Given the description of an element on the screen output the (x, y) to click on. 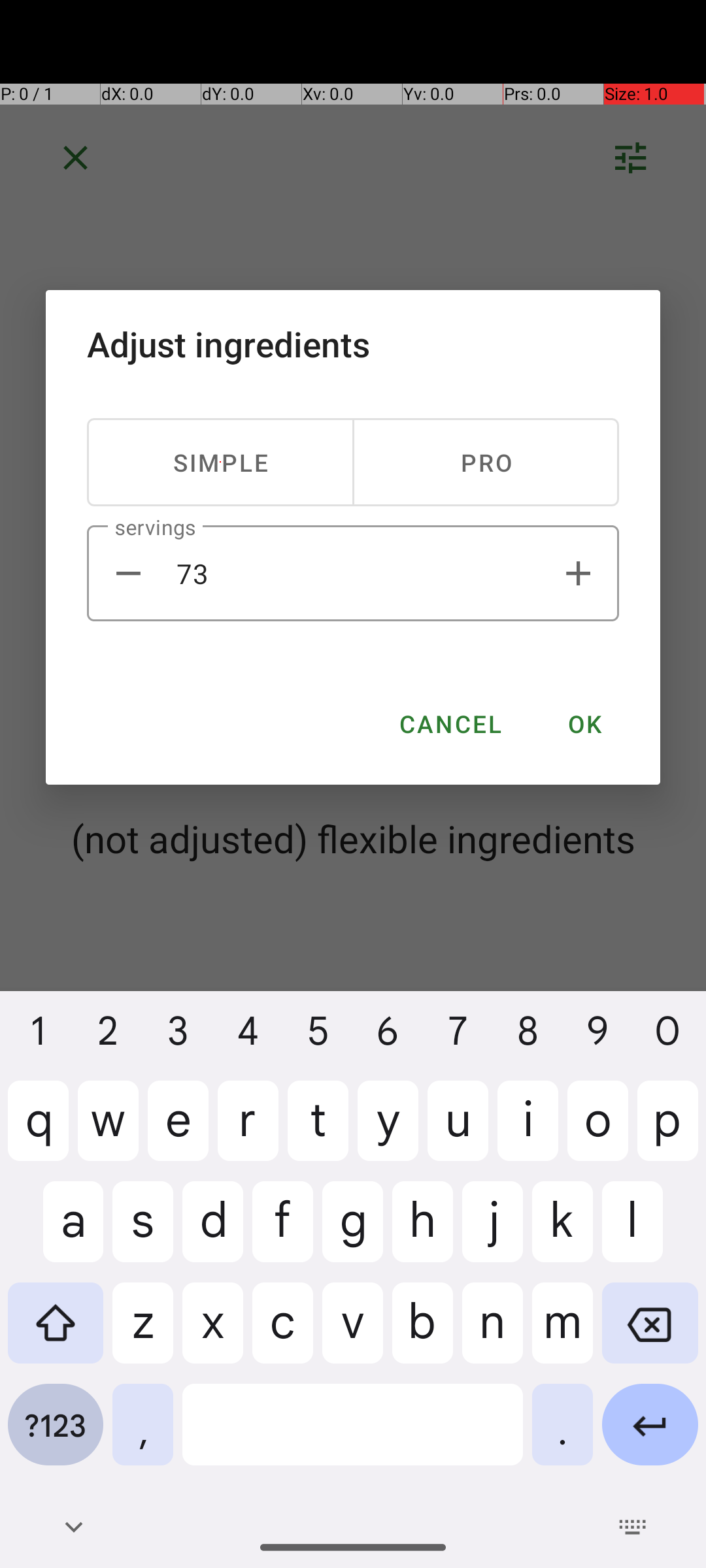
Adjust ingredients Element type: android.widget.TextView (352, 343)
73 Element type: android.widget.EditText (352, 573)
SIMPLE Element type: android.widget.CompoundButton (220, 462)
PRO Element type: android.widget.CompoundButton (485, 462)
